Given the description of an element on the screen output the (x, y) to click on. 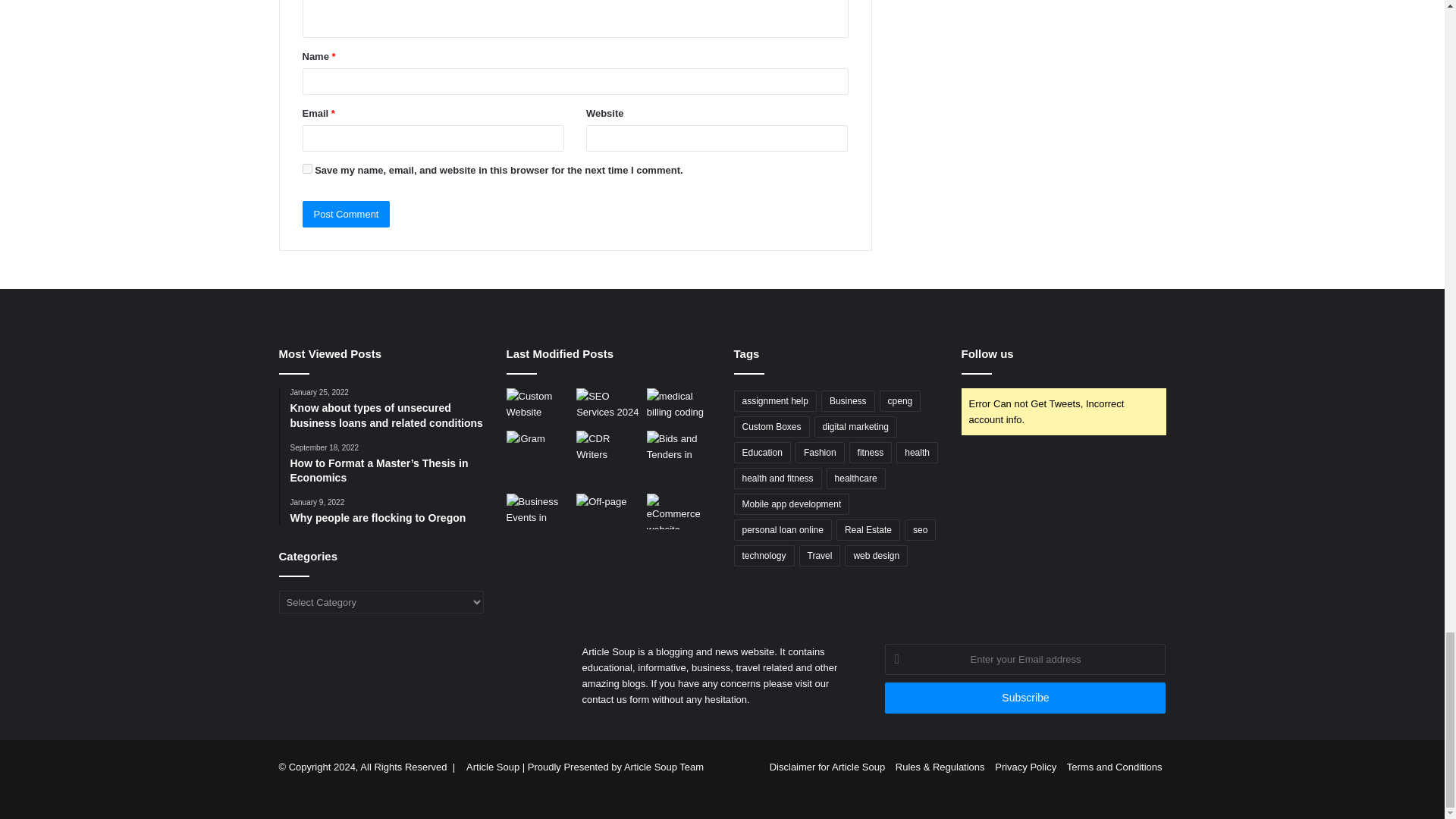
Post Comment (345, 213)
Subscribe (1025, 697)
yes (306, 168)
